Given the description of an element on the screen output the (x, y) to click on. 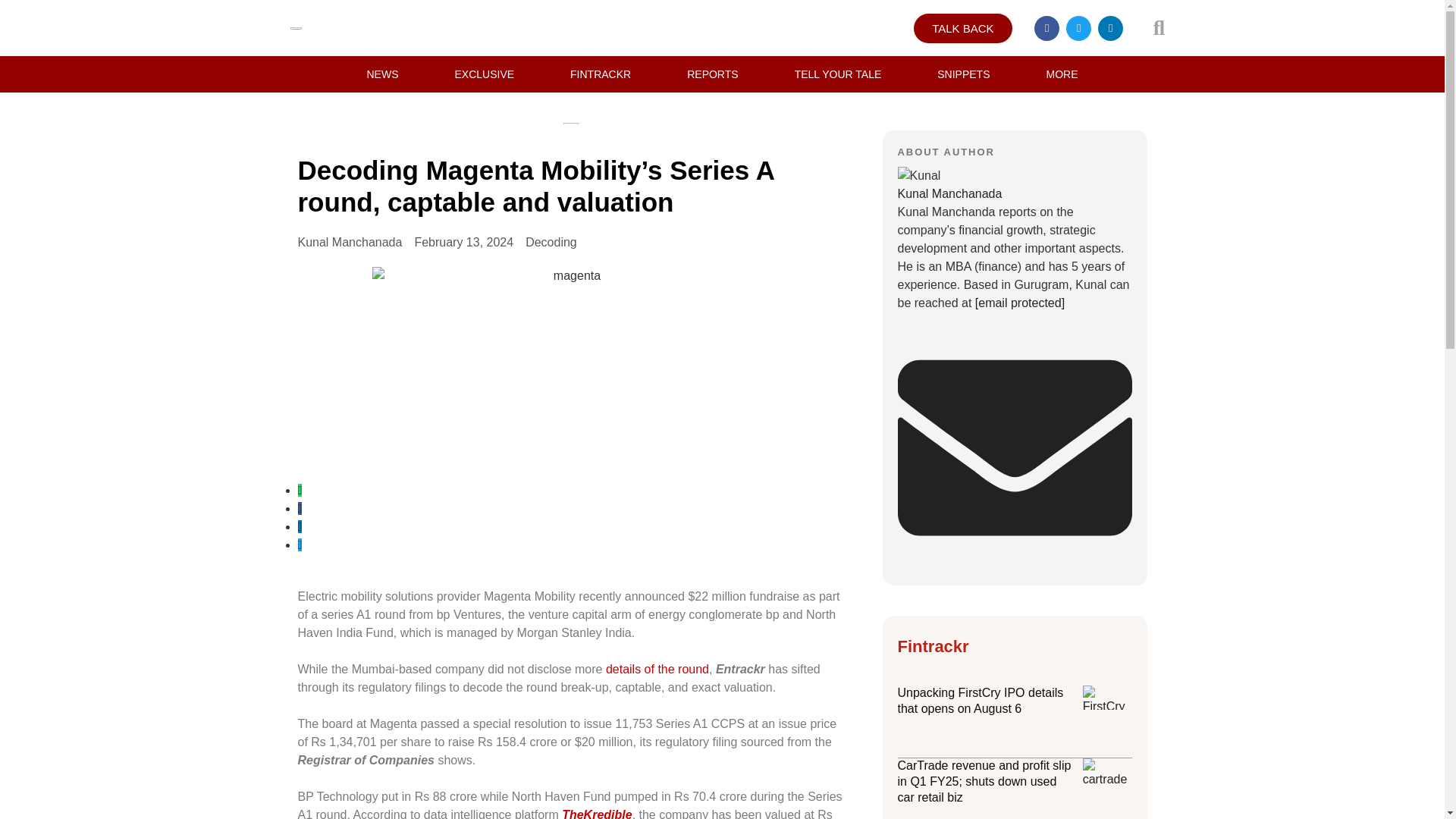
TELL YOUR TALE (838, 74)
REPORTS (712, 74)
TALK BACK (962, 28)
NEWS (381, 74)
FINTRACKR (600, 74)
User email (1015, 560)
EXCLUSIVE (483, 74)
MORE (1061, 74)
SNIPPETS (962, 74)
